Given the description of an element on the screen output the (x, y) to click on. 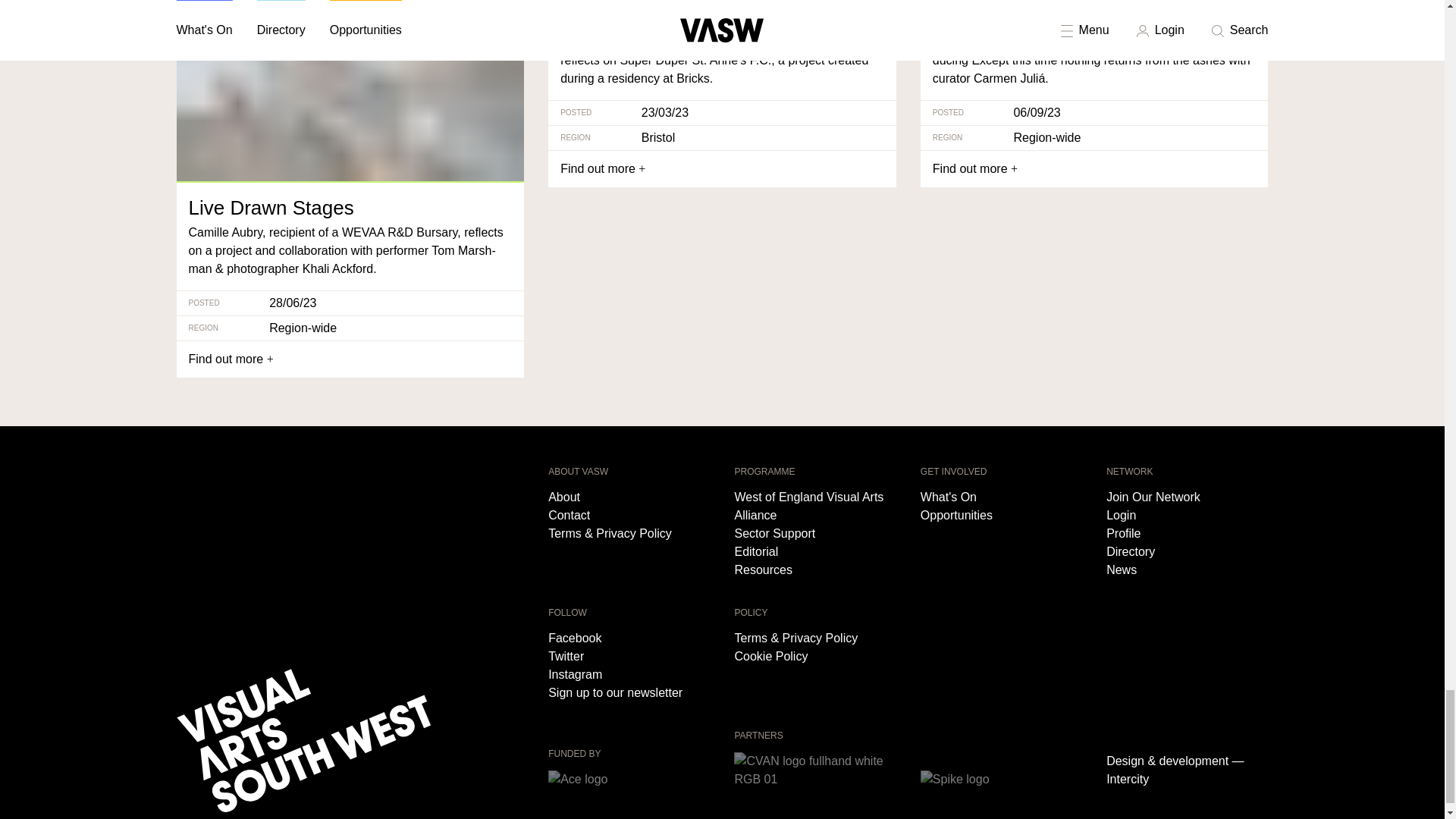
Sector Support (814, 533)
Resources (814, 570)
Editorial (814, 551)
Opportunities (1000, 515)
About (629, 497)
What's On (1000, 497)
West of England Visual Arts Alliance (814, 506)
Contact (629, 515)
